Given the description of an element on the screen output the (x, y) to click on. 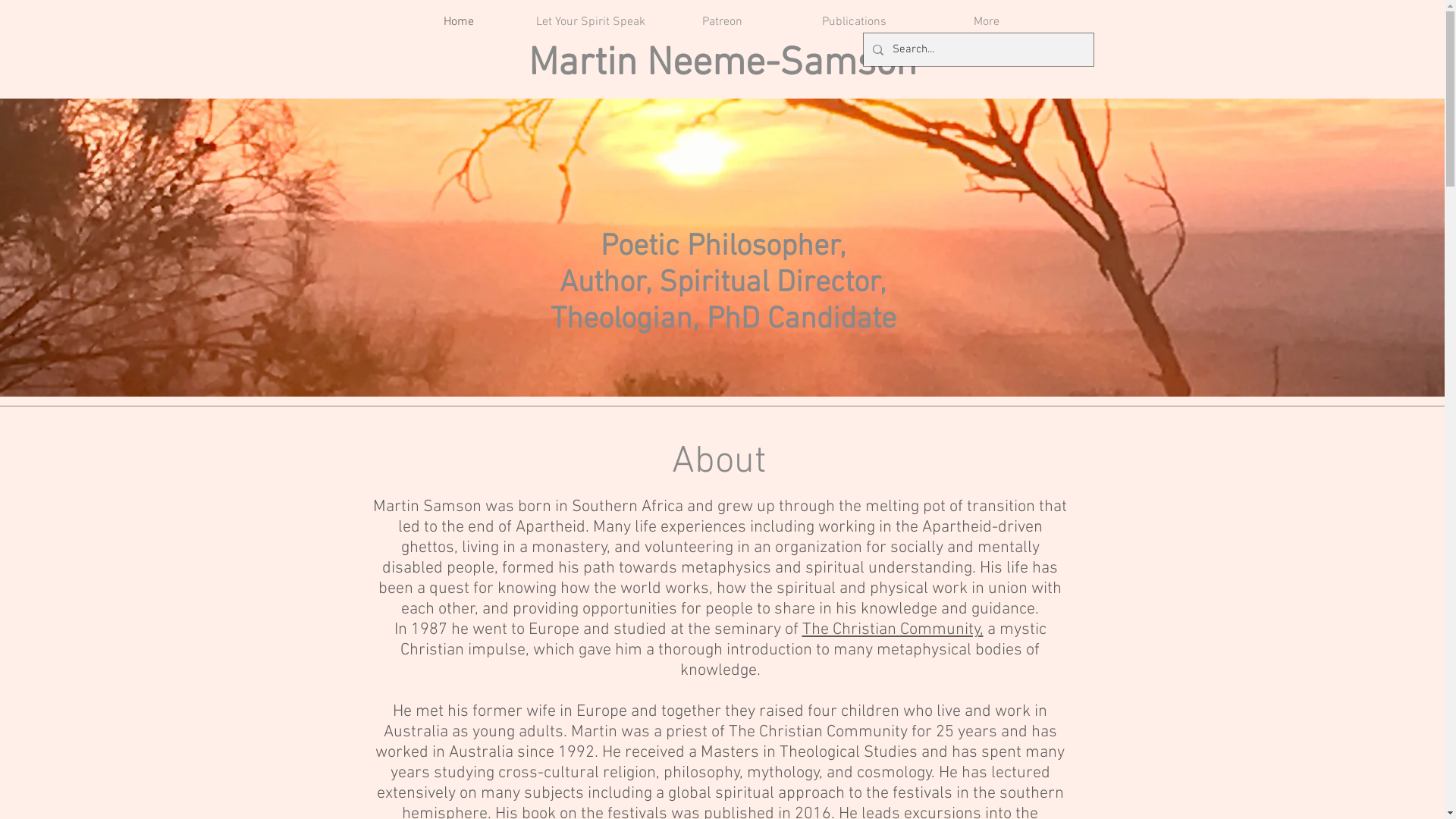
Patreon Element type: text (722, 22)
The Christian Community, Element type: text (892, 629)
Publications Element type: text (854, 22)
Let Your Spirit Speak Element type: text (590, 22)
Martin Neeme-Samson Element type: text (721, 63)
Home Element type: text (458, 22)
